Given the description of an element on the screen output the (x, y) to click on. 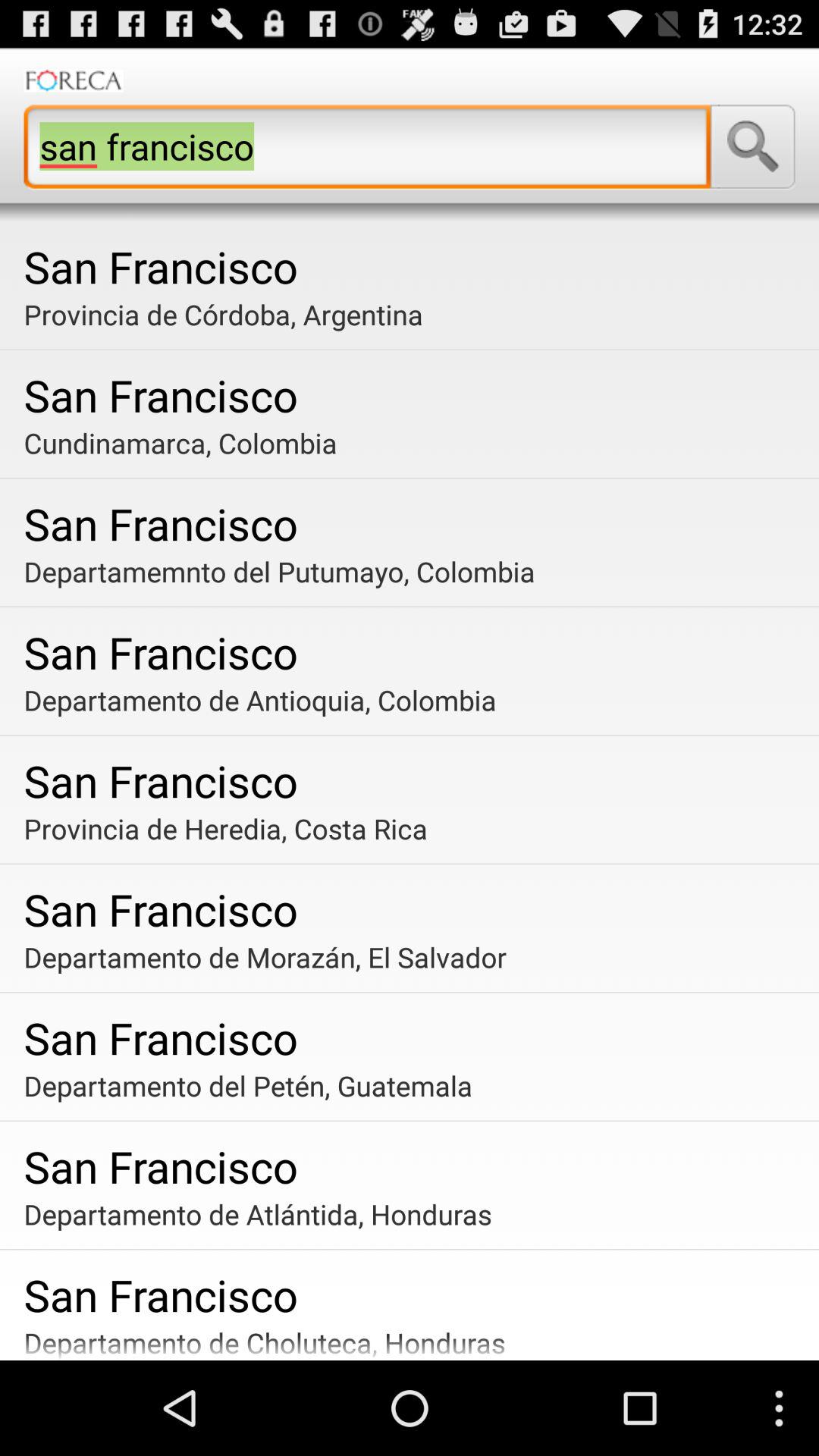
open item below san francisco icon (415, 571)
